Given the description of an element on the screen output the (x, y) to click on. 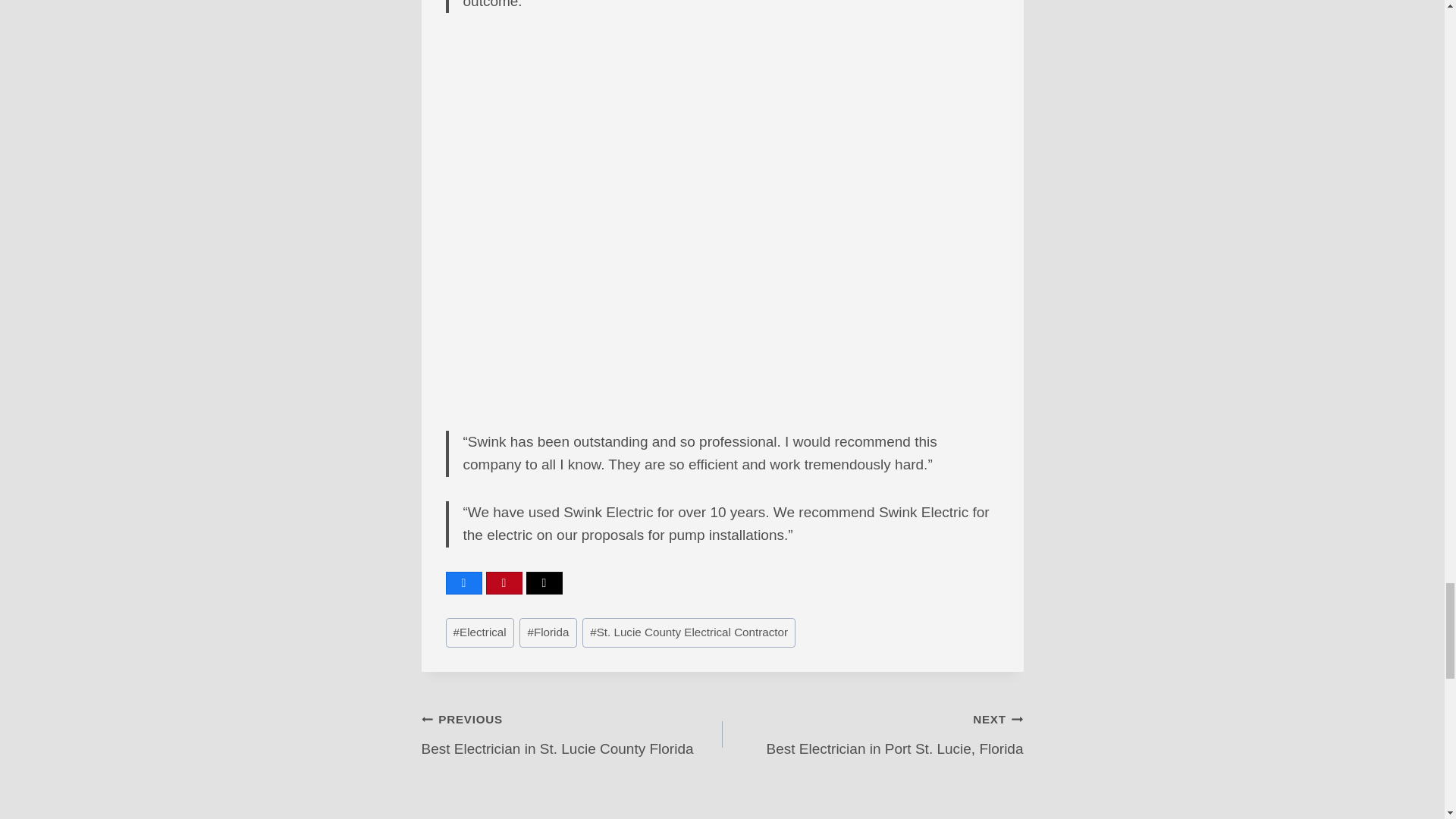
St. Lucie County Electrical Contractor (688, 632)
Florida (572, 733)
Electrical (547, 632)
